Given the description of an element on the screen output the (x, y) to click on. 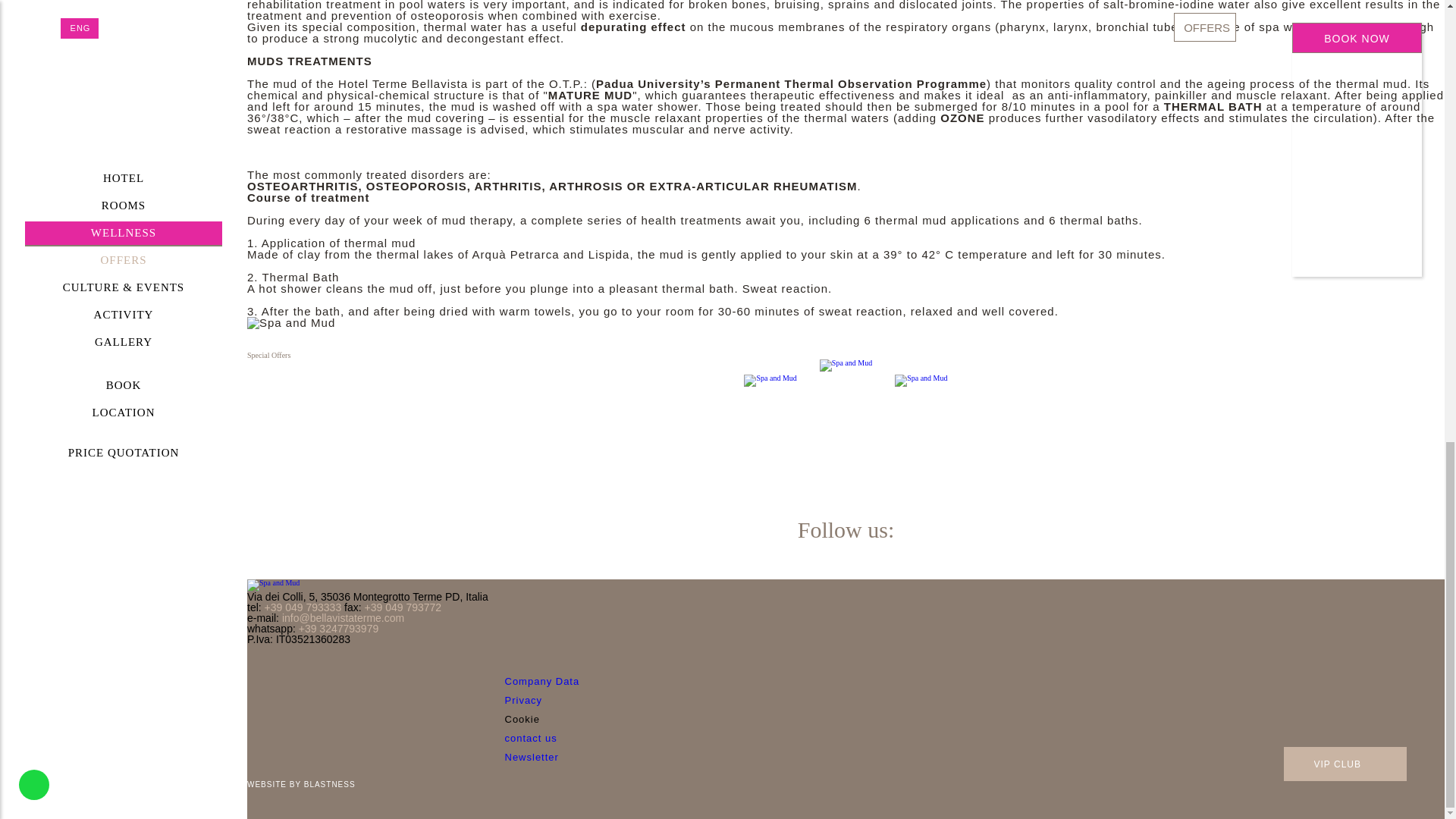
Spa and Mud (290, 322)
contact us (531, 737)
Cookie (522, 718)
Spa and Mud (273, 585)
Newsletter (532, 756)
Company Data (542, 681)
Privacy (524, 699)
